Given the description of an element on the screen output the (x, y) to click on. 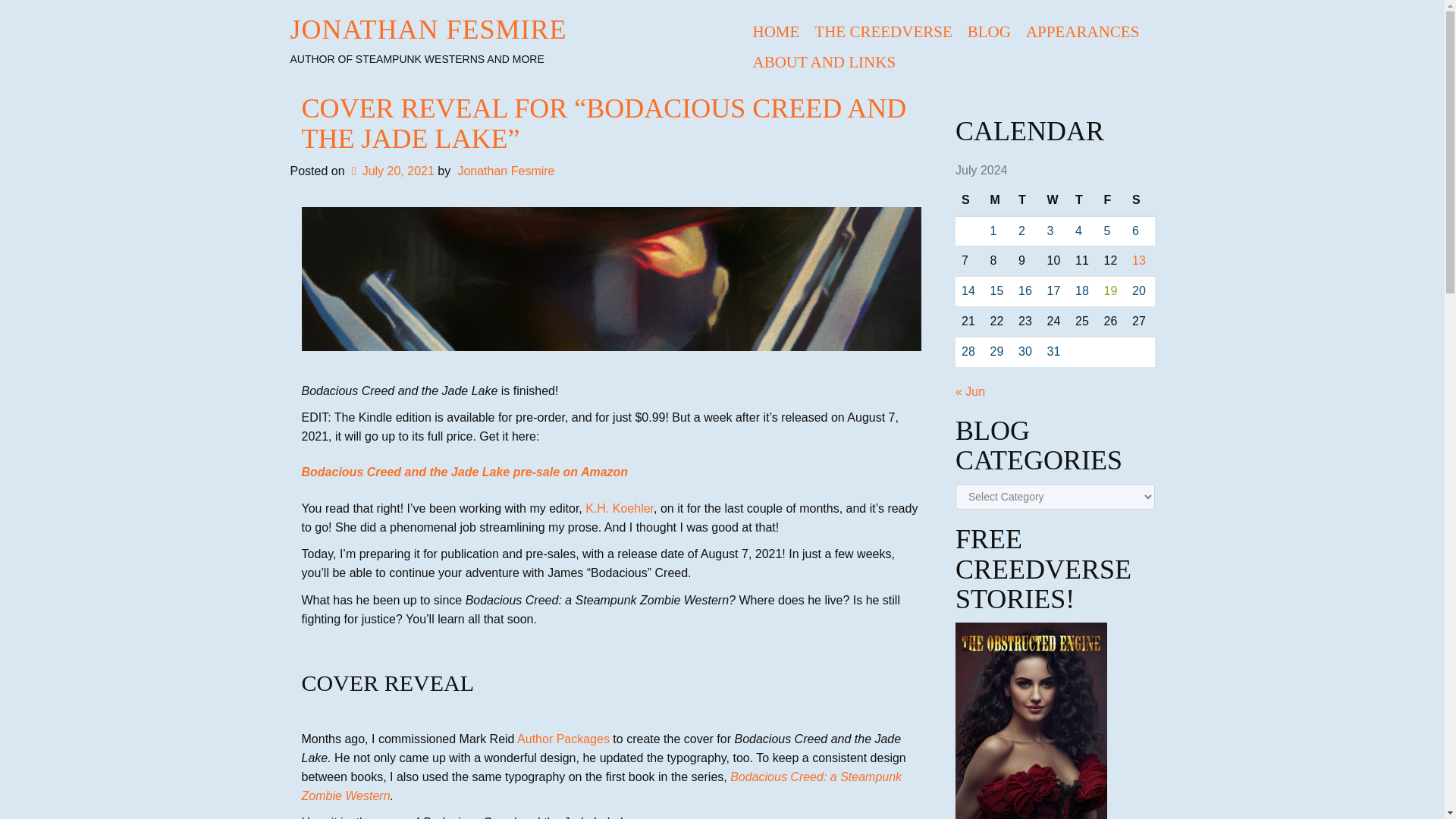
Monday (998, 200)
Thursday (1082, 200)
Wednesday (1054, 200)
Tuesday (1026, 200)
Bodacious Creed and the Jade Lake pre-sale on Amazon (464, 472)
Author Packages (563, 738)
Friday (1111, 200)
JONATHAN FESMIRE (427, 29)
Sunday (969, 200)
THE CREEDVERSE (882, 31)
Jonathan Fesmire (505, 170)
BLOG (988, 31)
HOME (775, 31)
July 20, 2021 (390, 170)
ABOUT AND LINKS (823, 61)
